Given the description of an element on the screen output the (x, y) to click on. 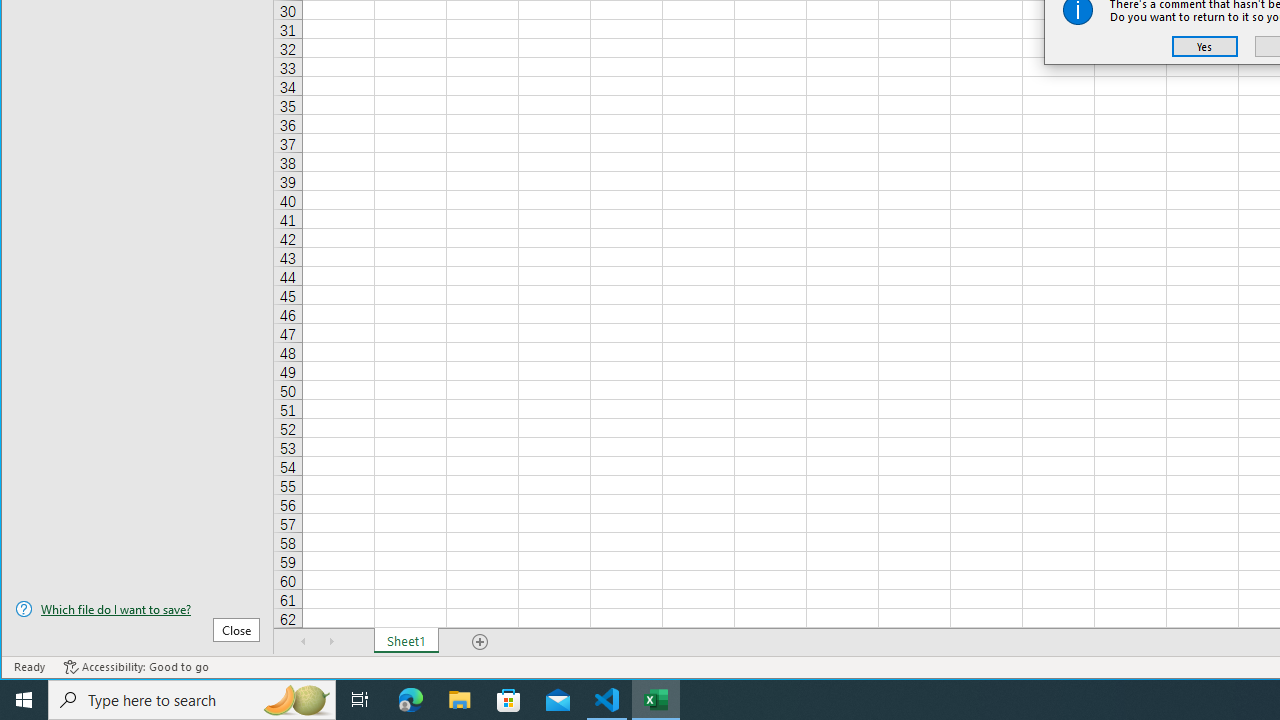
Task View (359, 699)
Search highlights icon opens search home window (295, 699)
